Given the description of an element on the screen output the (x, y) to click on. 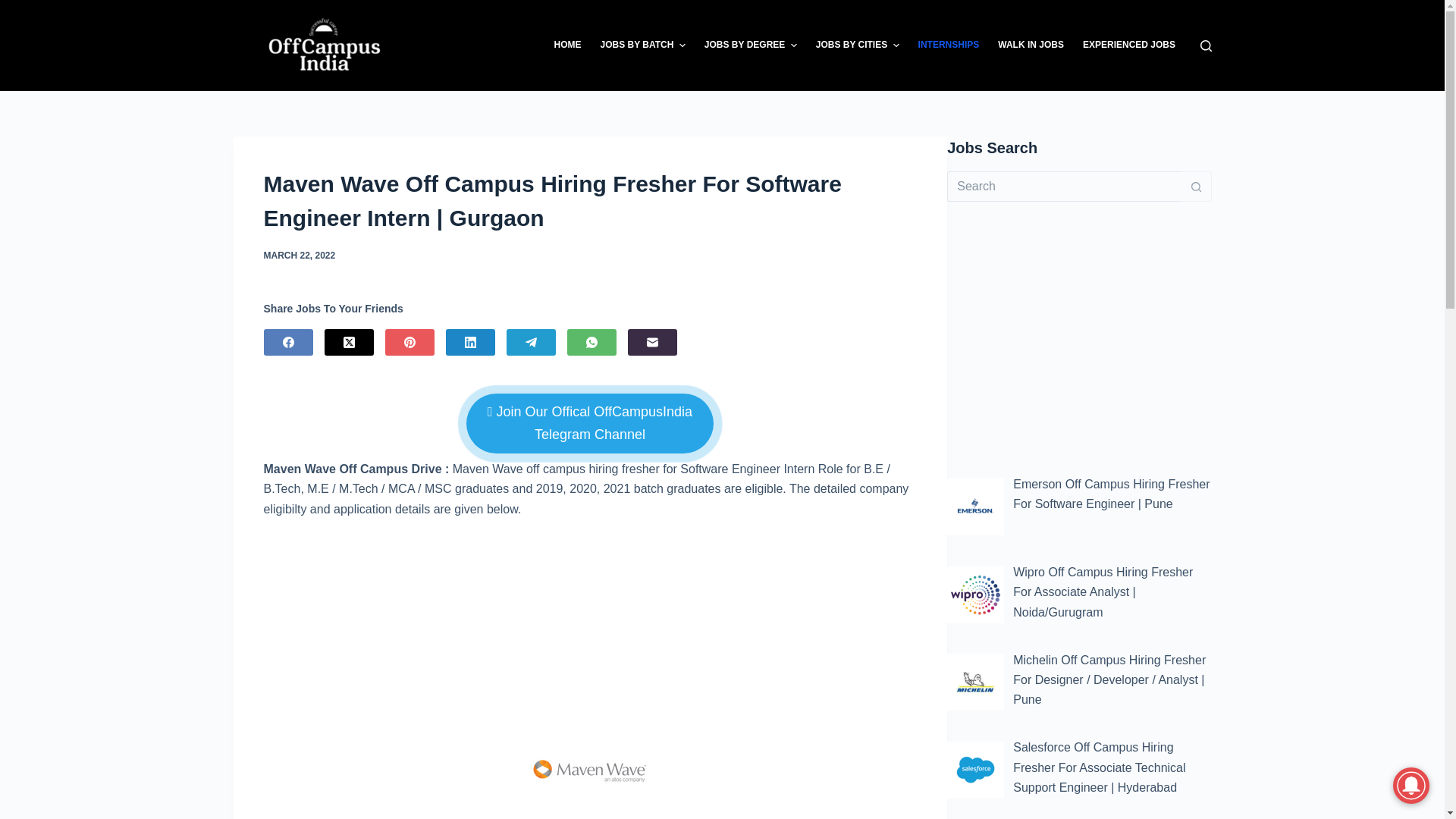
Search for... (1063, 186)
Advertisement (1079, 337)
Advertisement (589, 613)
Skip to content (15, 7)
